Given the description of an element on the screen output the (x, y) to click on. 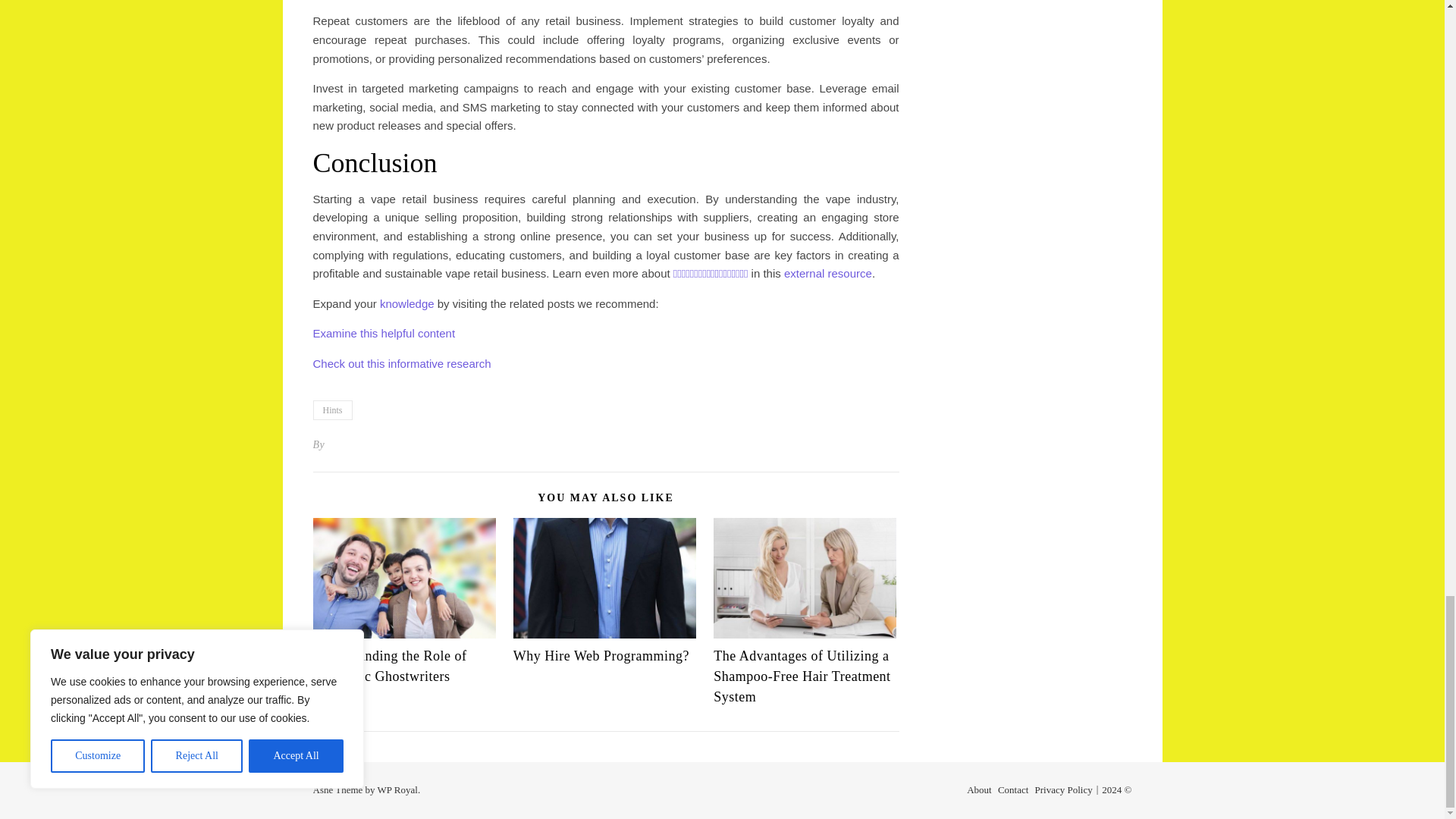
Why Hire Web Programming? (600, 655)
Understanding the Role of Academic Ghostwriters (389, 665)
external resource (828, 273)
Examine this helpful content (383, 332)
Hints (332, 410)
knowledge (406, 303)
Check out this informative research (401, 363)
